Given the description of an element on the screen output the (x, y) to click on. 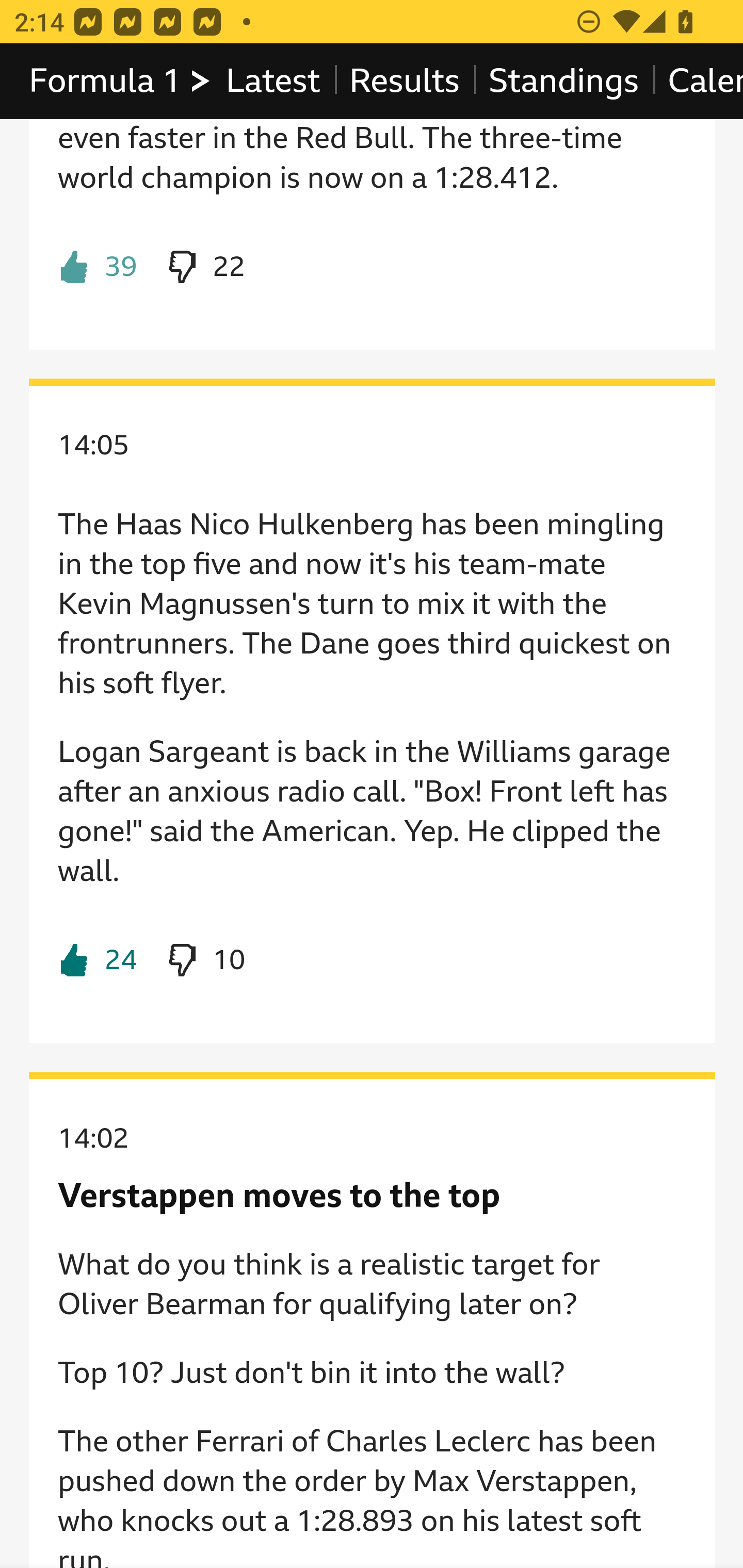
Liked (97, 267)
Dislike (204, 267)
Liked (97, 960)
Dislike (204, 960)
